Given the description of an element on the screen output the (x, y) to click on. 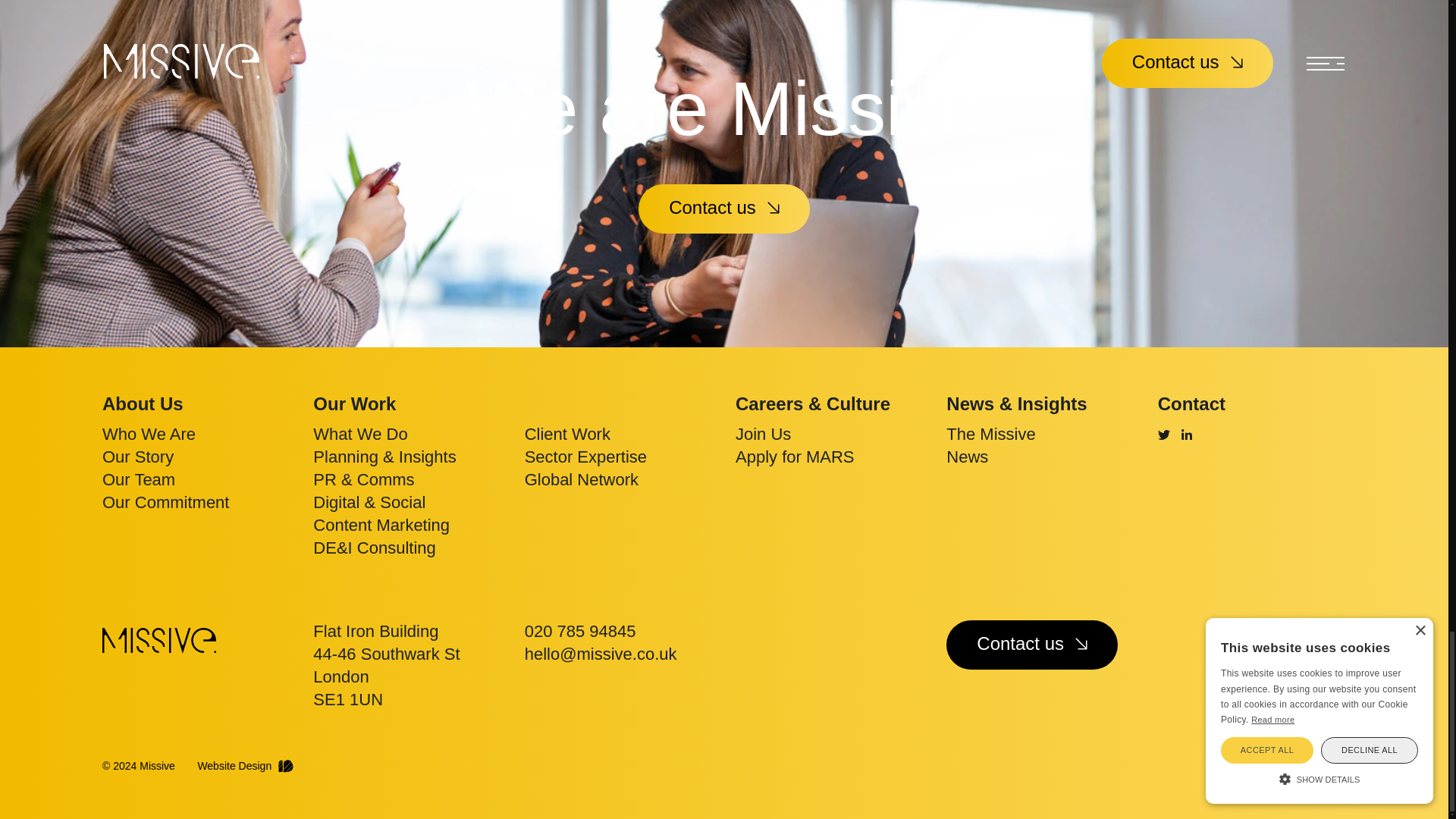
Our Work (354, 403)
Our Story (137, 456)
Client Work (567, 434)
Our Commitment (164, 502)
What We Do (360, 434)
About Us (142, 403)
Contact us (724, 208)
Sector Expertise (585, 456)
Who We Are (148, 434)
Content Marketing (381, 524)
